Given the description of an element on the screen output the (x, y) to click on. 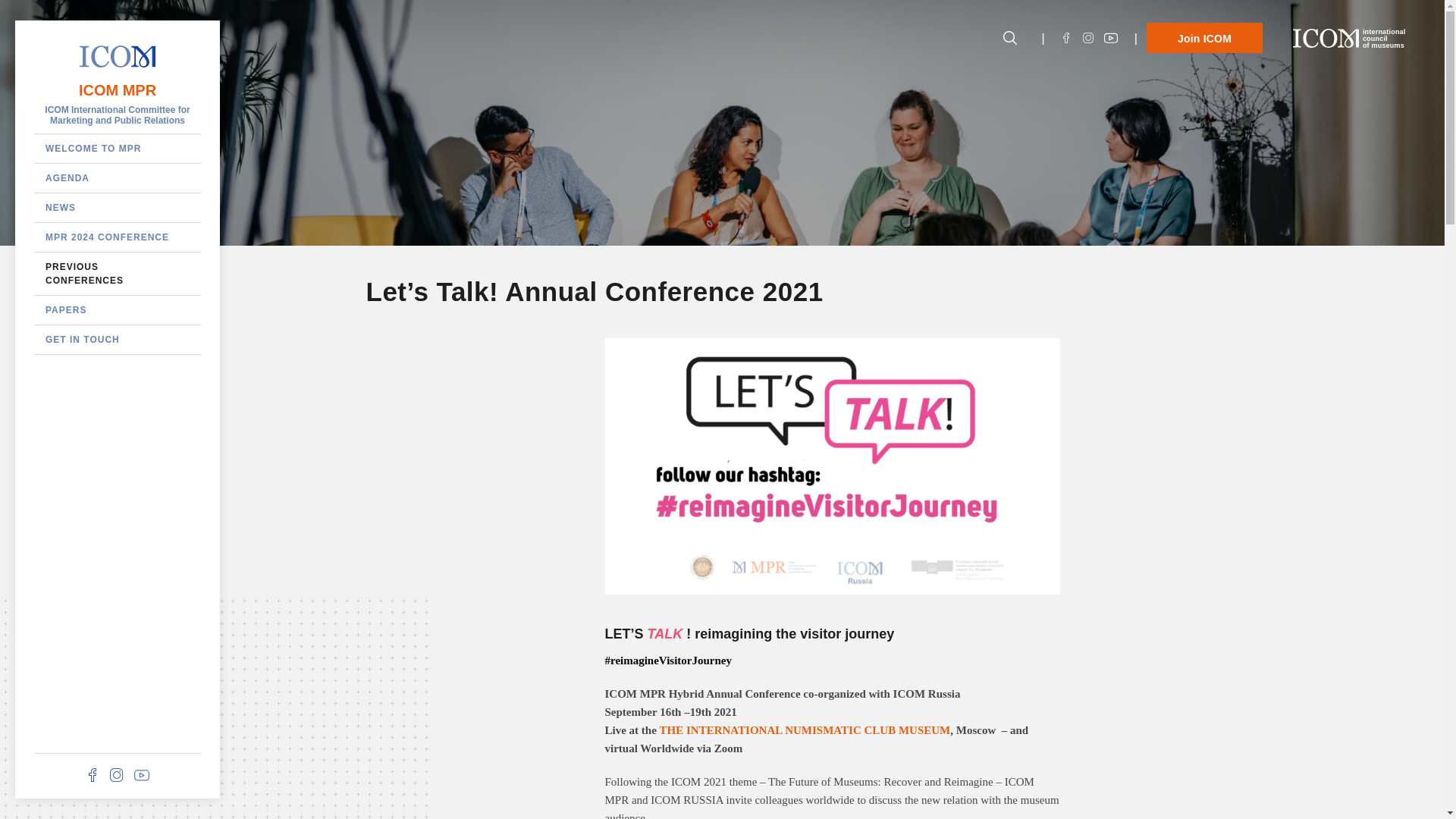
MPR 2024 CONFERENCE (116, 236)
AGENDA (116, 177)
NEWS (116, 207)
PREVIOUS CONFERENCES (116, 273)
Join ICOM (1349, 37)
ICOM MPR (1204, 37)
PAPERS (116, 90)
WELCOME TO MPR (116, 309)
